Given the description of an element on the screen output the (x, y) to click on. 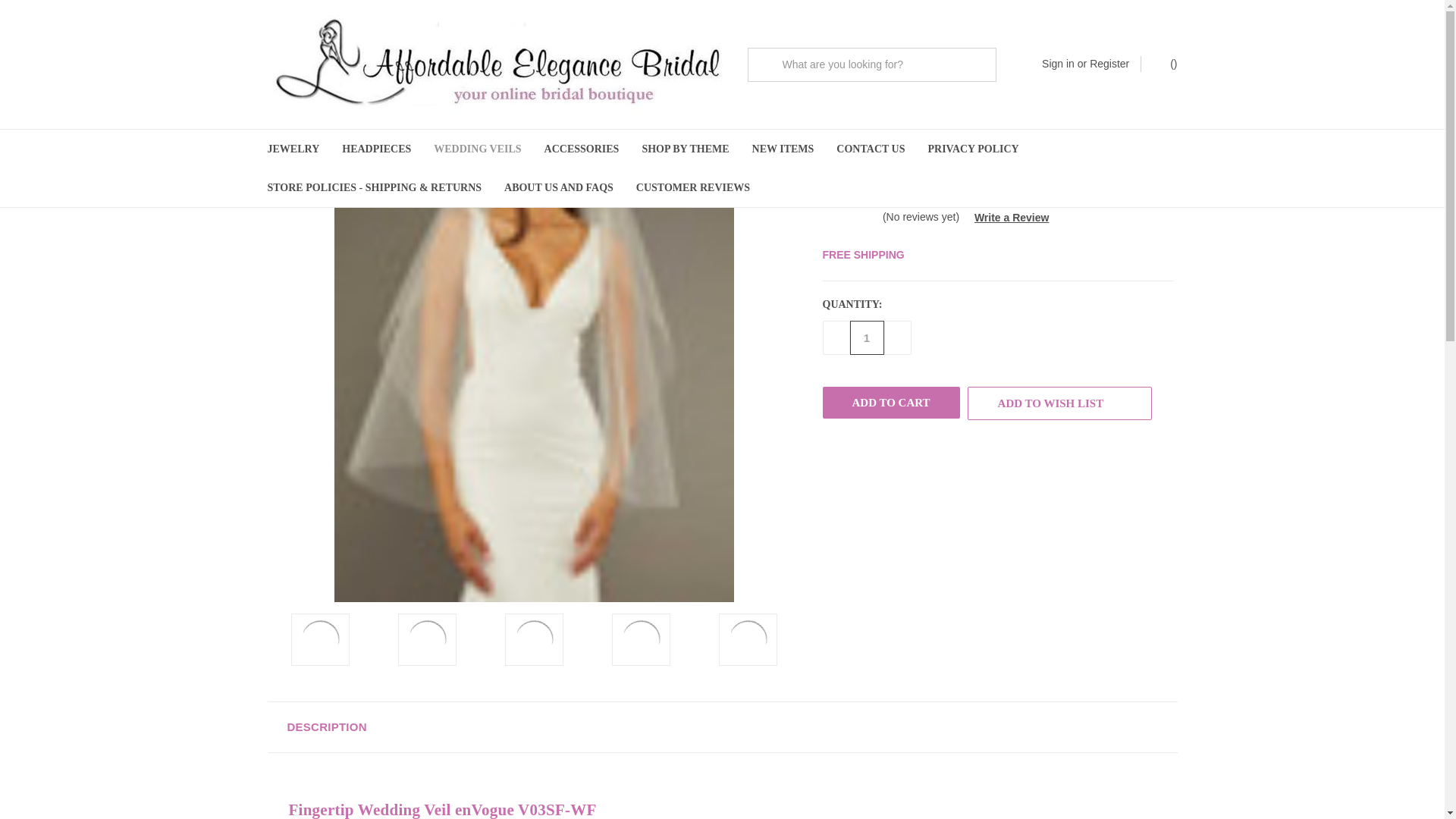
Affordable Elegance Bridal (494, 64)
Waterfall Cut Ivory Fingertip Wedding Veil enVogue V03SF-WF (426, 639)
Add to Cart (890, 402)
JEWELRY (293, 148)
1 (865, 337)
Waterfall Cut Ivory Fingertip Wedding Veil enVogue V03SF-WF (640, 639)
Waterfall Cut Ivory Fingertip Wedding Veil enVogue V03SF-WF (320, 639)
Register (1109, 64)
Waterfall Cut Ivory Fingertip Wedding Veil enVogue V03SF-WF (748, 639)
Sign in (1058, 64)
Waterfall Cut Ivory Fingertip Wedding Veil enVogue V03SF-WF (534, 639)
